Given the description of an element on the screen output the (x, y) to click on. 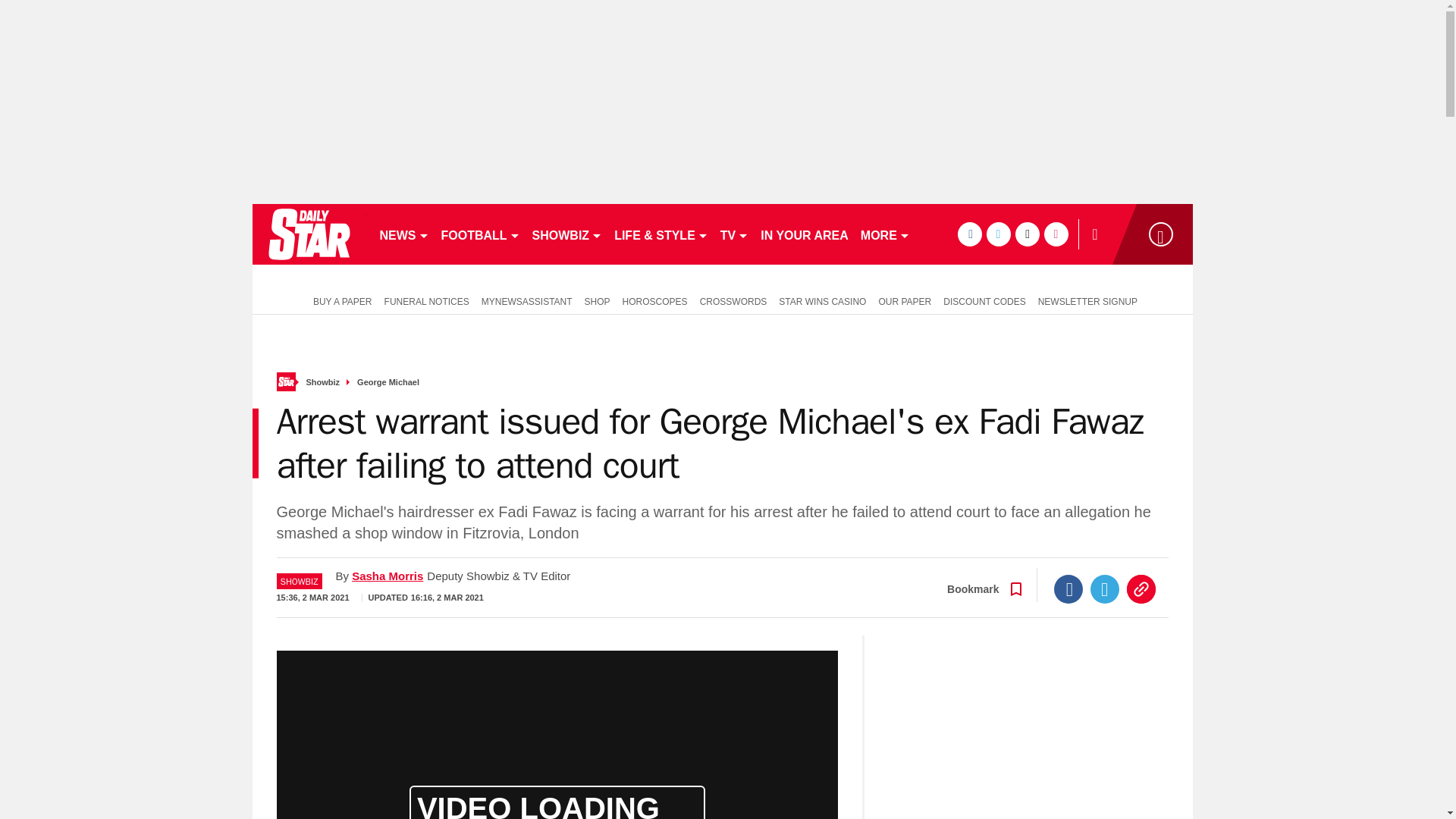
twitter (997, 233)
SHOWBIZ (566, 233)
TV (734, 233)
instagram (1055, 233)
facebook (968, 233)
FOOTBALL (480, 233)
dailystar (308, 233)
tiktok (1026, 233)
Twitter (1104, 588)
Facebook (1068, 588)
NEWS (402, 233)
